Given the description of an element on the screen output the (x, y) to click on. 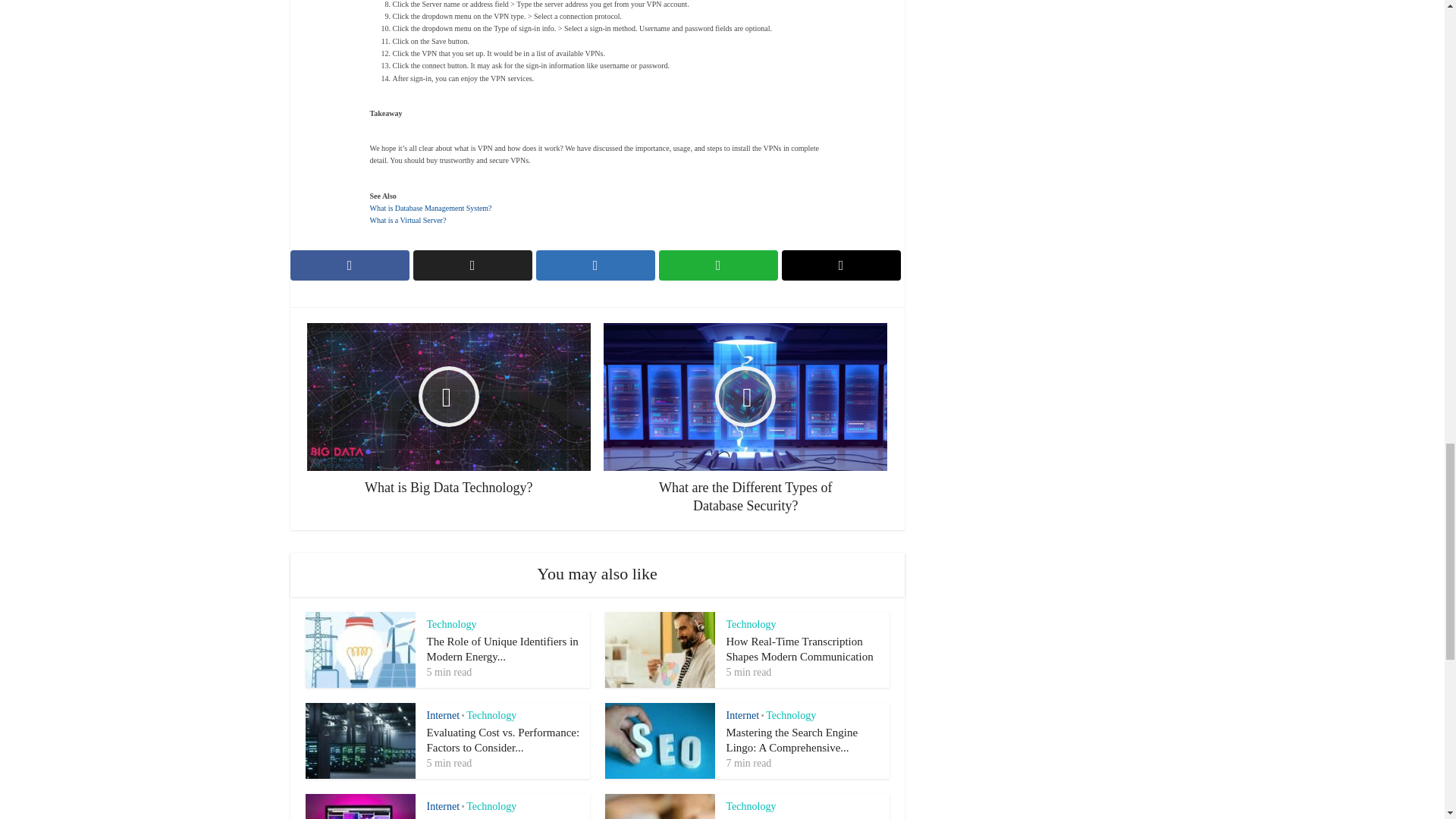
How Real-Time Transcription Shapes Modern Communication (799, 648)
A Guide to Low Vision Devices and Assistive Technologies (799, 818)
What is a Virtual Server? (407, 220)
What is Database Management System? (430, 207)
The Role of Unique Identifiers in Modern Energy Management (502, 648)
